Given the description of an element on the screen output the (x, y) to click on. 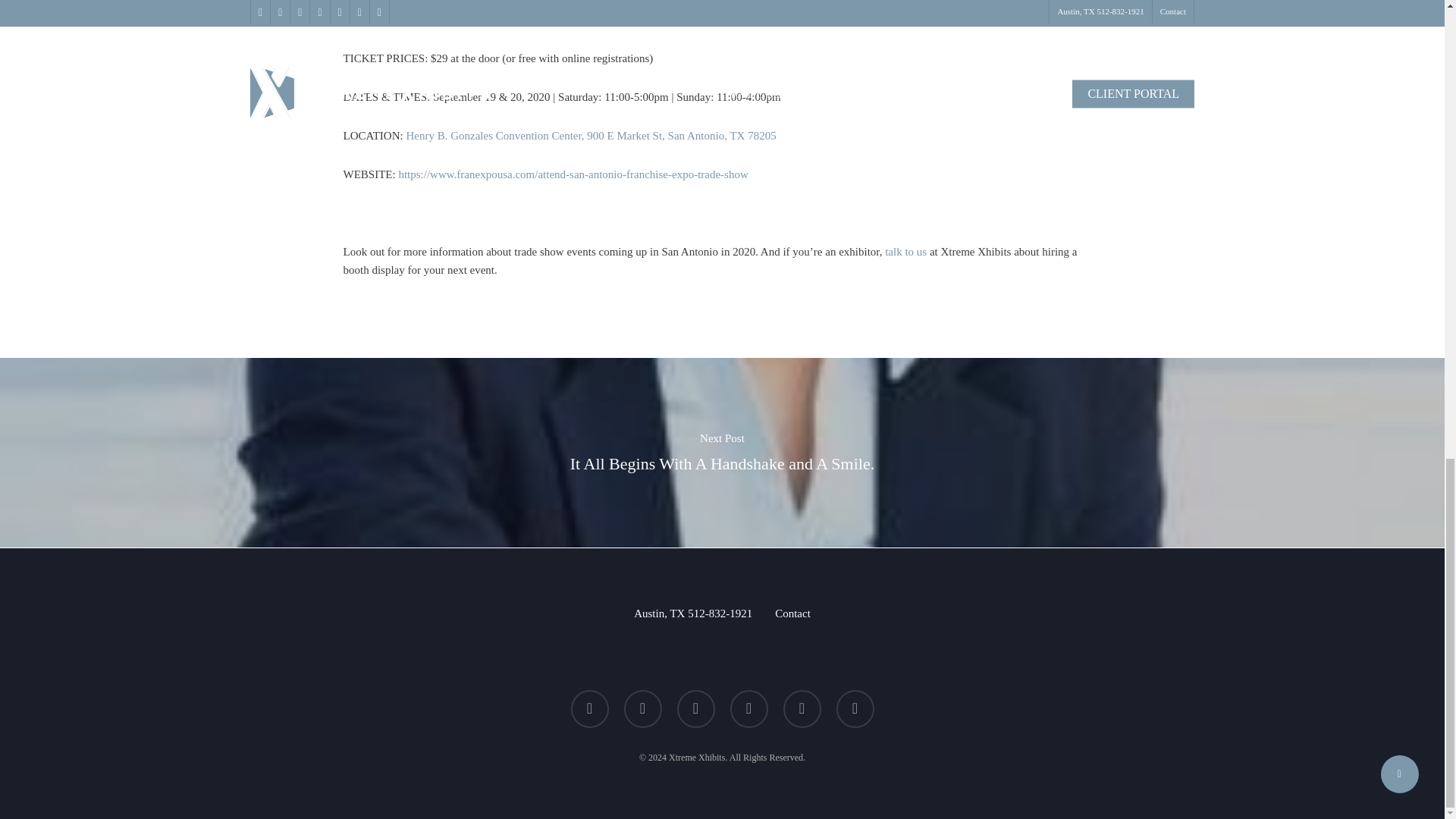
talk to us (905, 251)
